Given the description of an element on the screen output the (x, y) to click on. 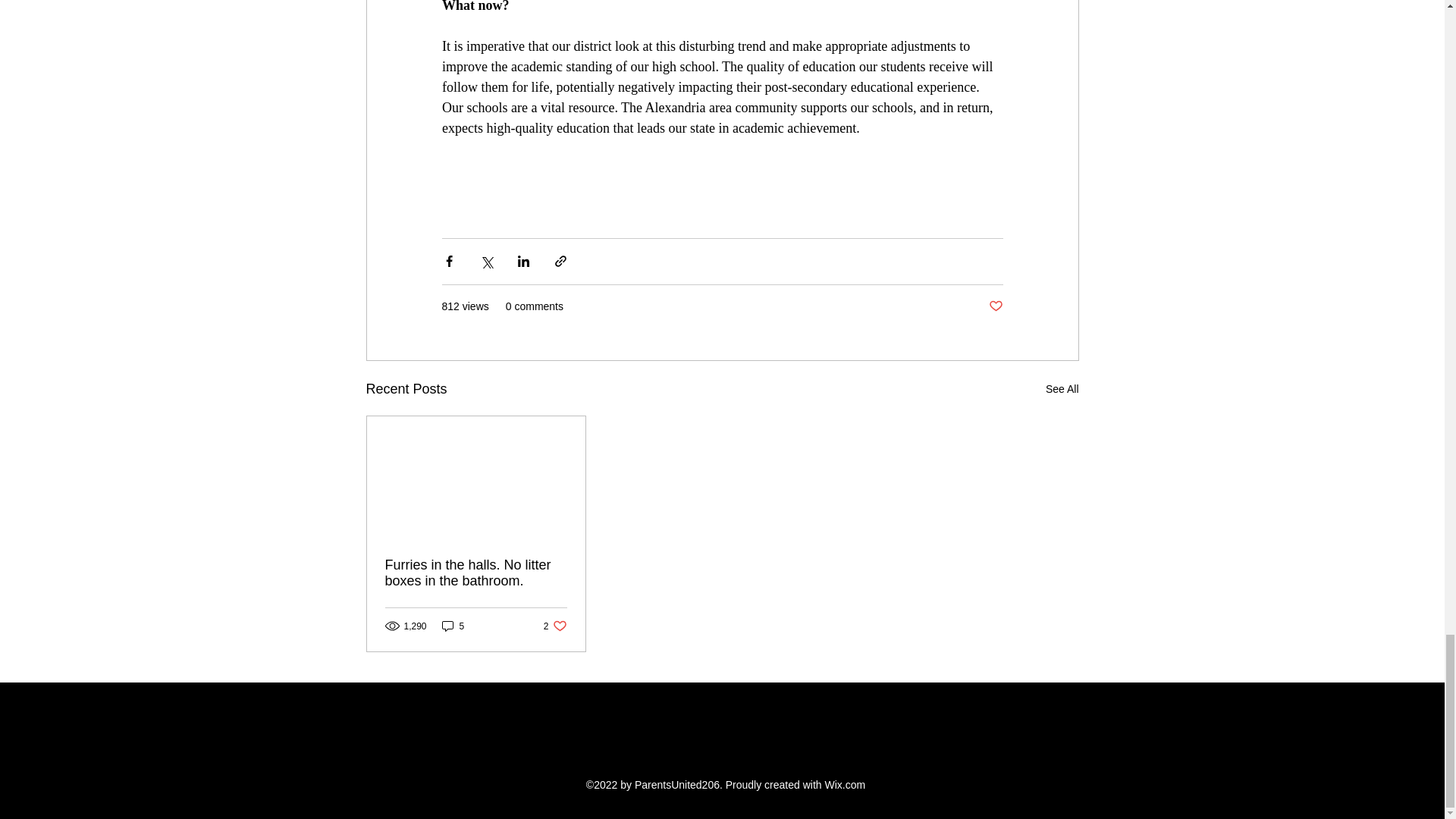
Furries in the halls. No litter boxes in the bathroom. (555, 626)
Post not marked as liked (476, 572)
5 (995, 306)
See All (453, 626)
